Given the description of an element on the screen output the (x, y) to click on. 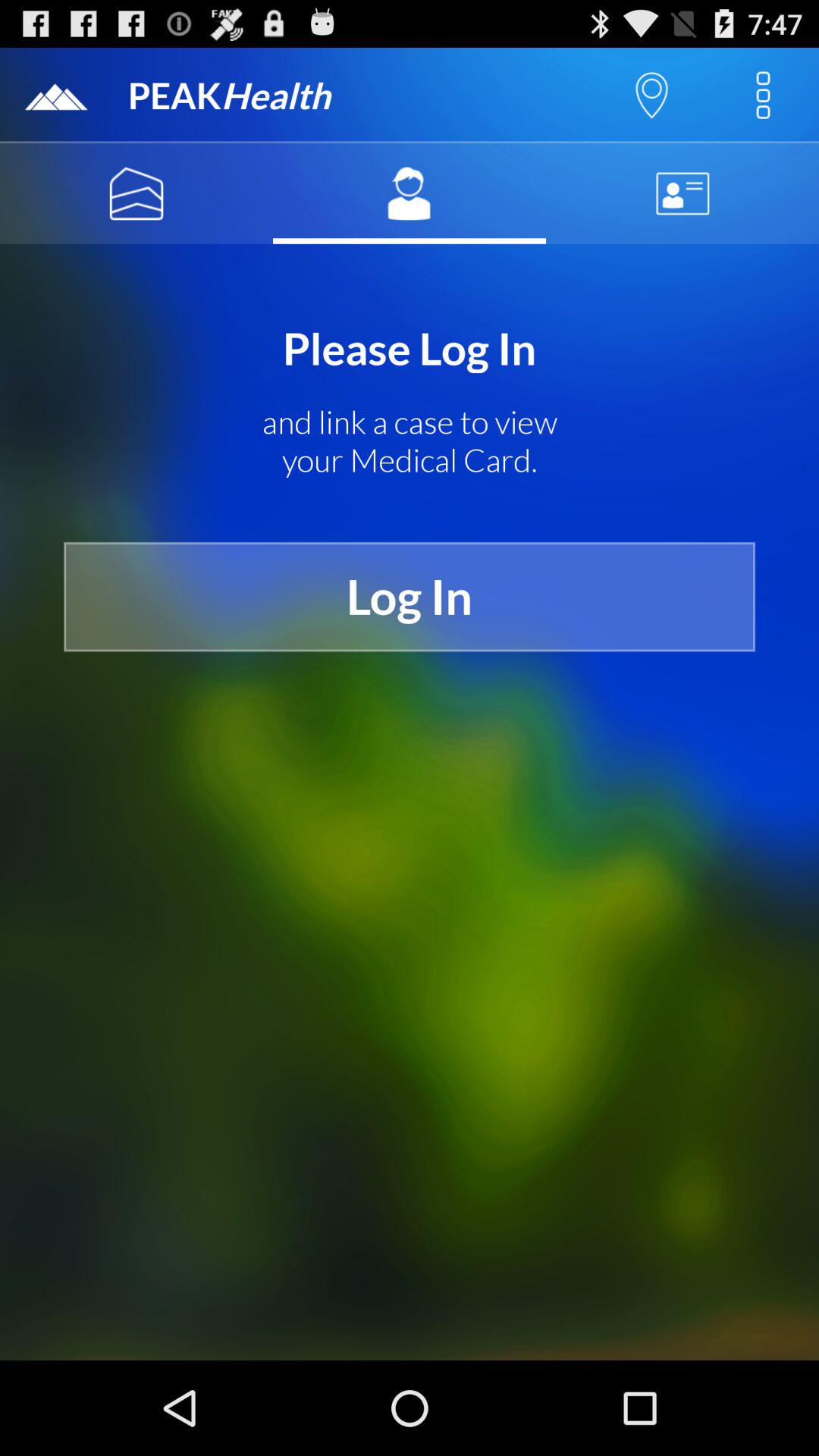
press and link a item (409, 441)
